Given the description of an element on the screen output the (x, y) to click on. 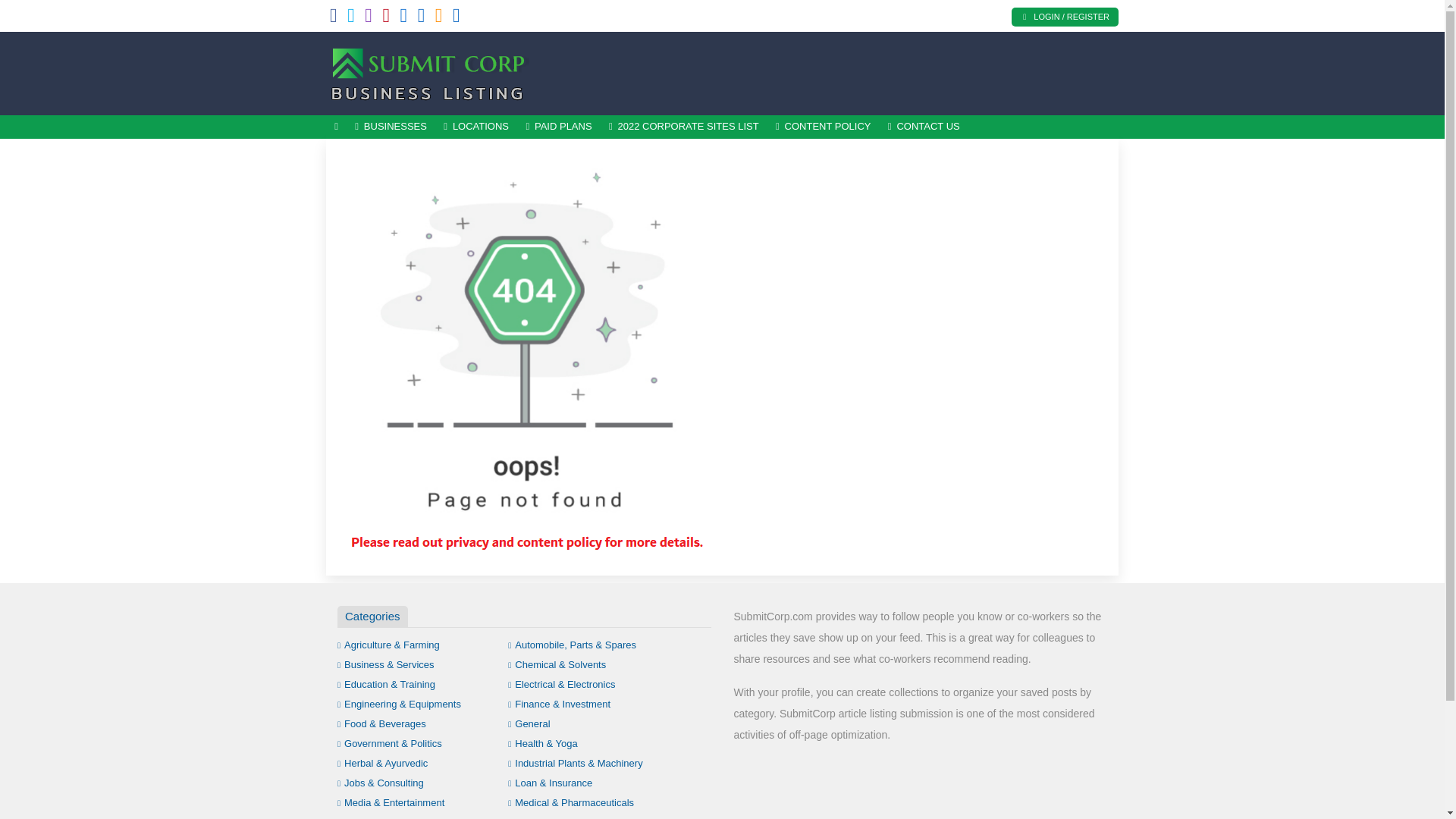
BUSINESSES (390, 126)
PAID PLANS (557, 126)
LOCATIONS (475, 126)
CONTENT POLICY (823, 126)
CONTACT US (923, 126)
General (529, 723)
2022 CORPORATE SITES LIST (683, 126)
